Given the description of an element on the screen output the (x, y) to click on. 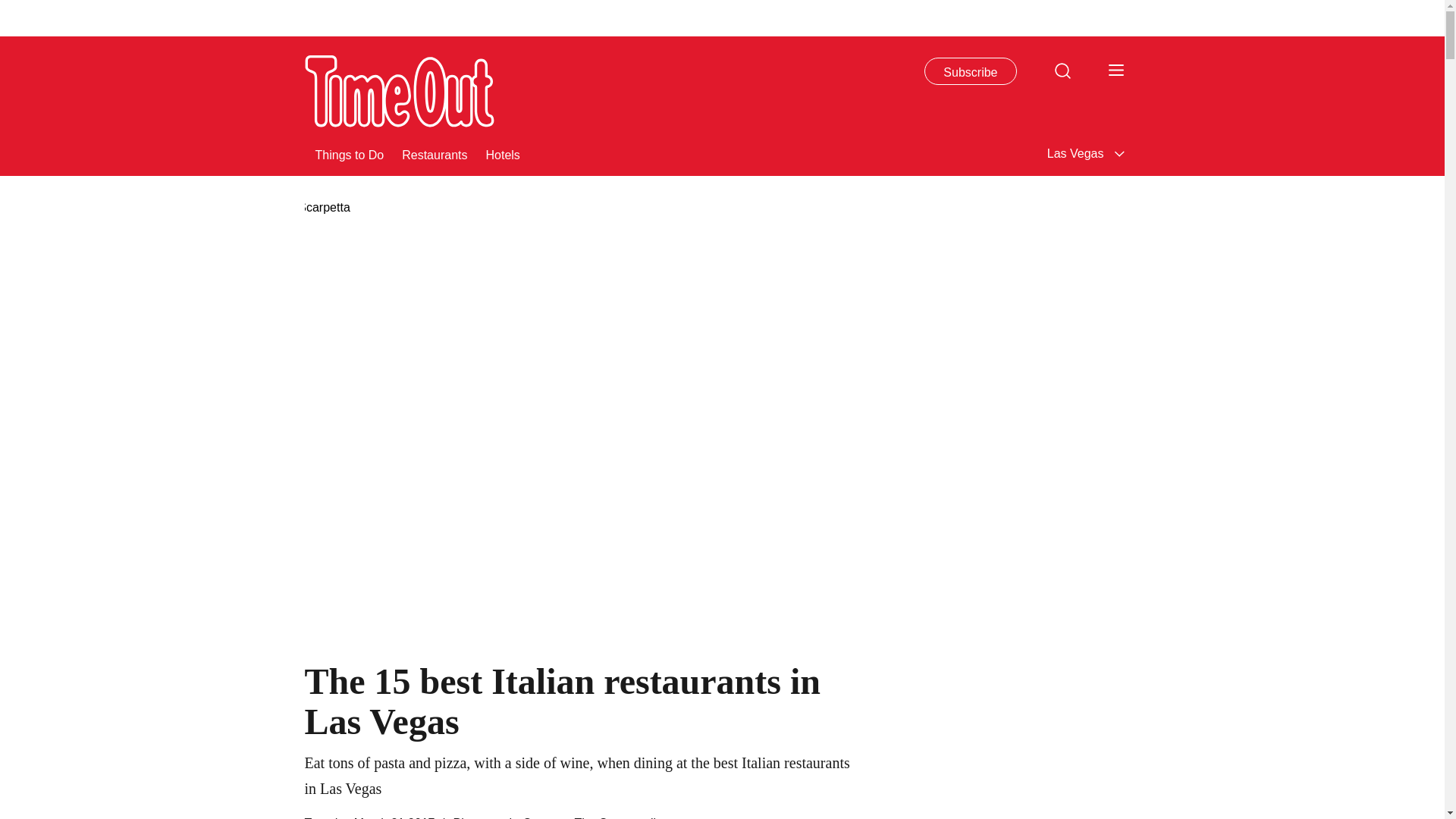
Restaurants (434, 153)
Restaurants (434, 153)
Search (1061, 69)
Subscribe (970, 71)
Las Vegas (1086, 153)
Go to the content (10, 7)
Hotels (502, 153)
Hotels (502, 153)
Things to Do (349, 153)
